Given the description of an element on the screen output the (x, y) to click on. 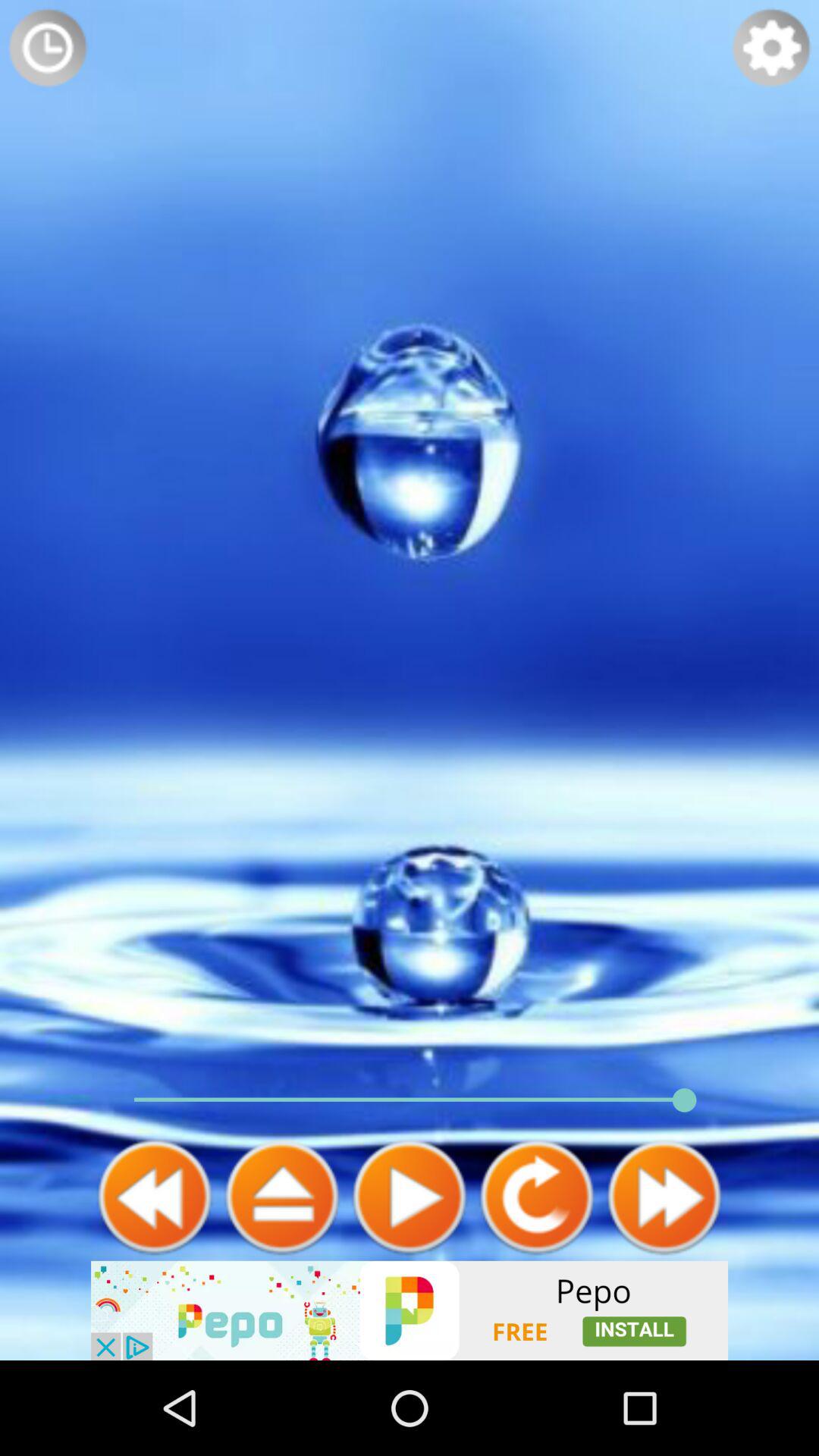
eject (281, 1196)
